Given the description of an element on the screen output the (x, y) to click on. 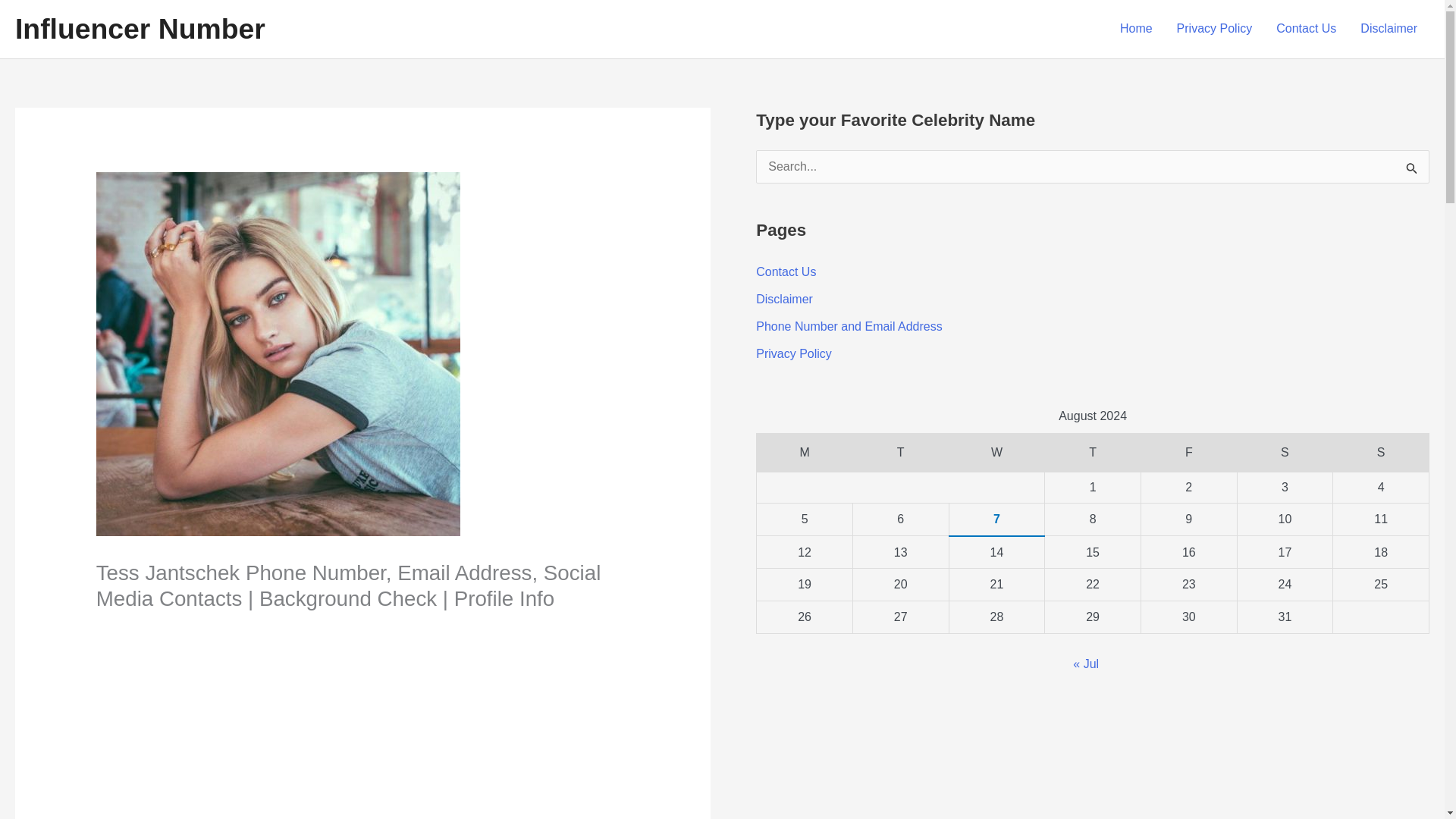
Contact Us (785, 271)
Search (1411, 170)
Privacy Policy (1214, 28)
Wednesday (997, 452)
Saturday (1284, 452)
Privacy Policy (793, 353)
Search (1411, 170)
Advertisement (362, 727)
Friday (1188, 452)
Thursday (1093, 452)
Tuesday (900, 452)
Home (1136, 28)
Disclaimer (783, 298)
Search (1411, 170)
Contact Us (1305, 28)
